Given the description of an element on the screen output the (x, y) to click on. 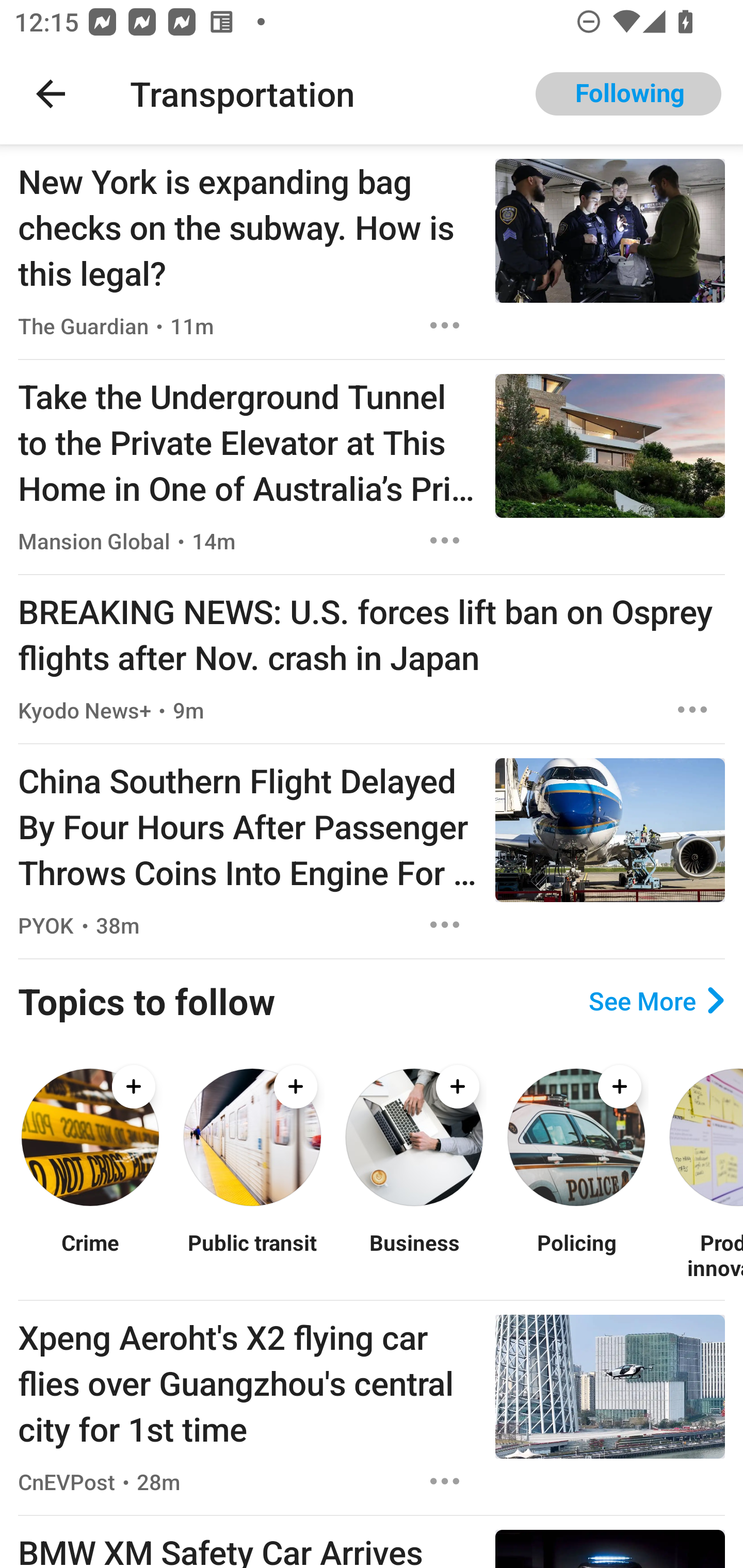
Navigate up (50, 93)
Following (628, 94)
Options (444, 325)
Options (444, 540)
Options (692, 709)
Options (444, 925)
See More (656, 1000)
Crime (89, 1254)
Public transit (251, 1254)
Business (413, 1254)
Policing (575, 1254)
Options (444, 1481)
